Given the description of an element on the screen output the (x, y) to click on. 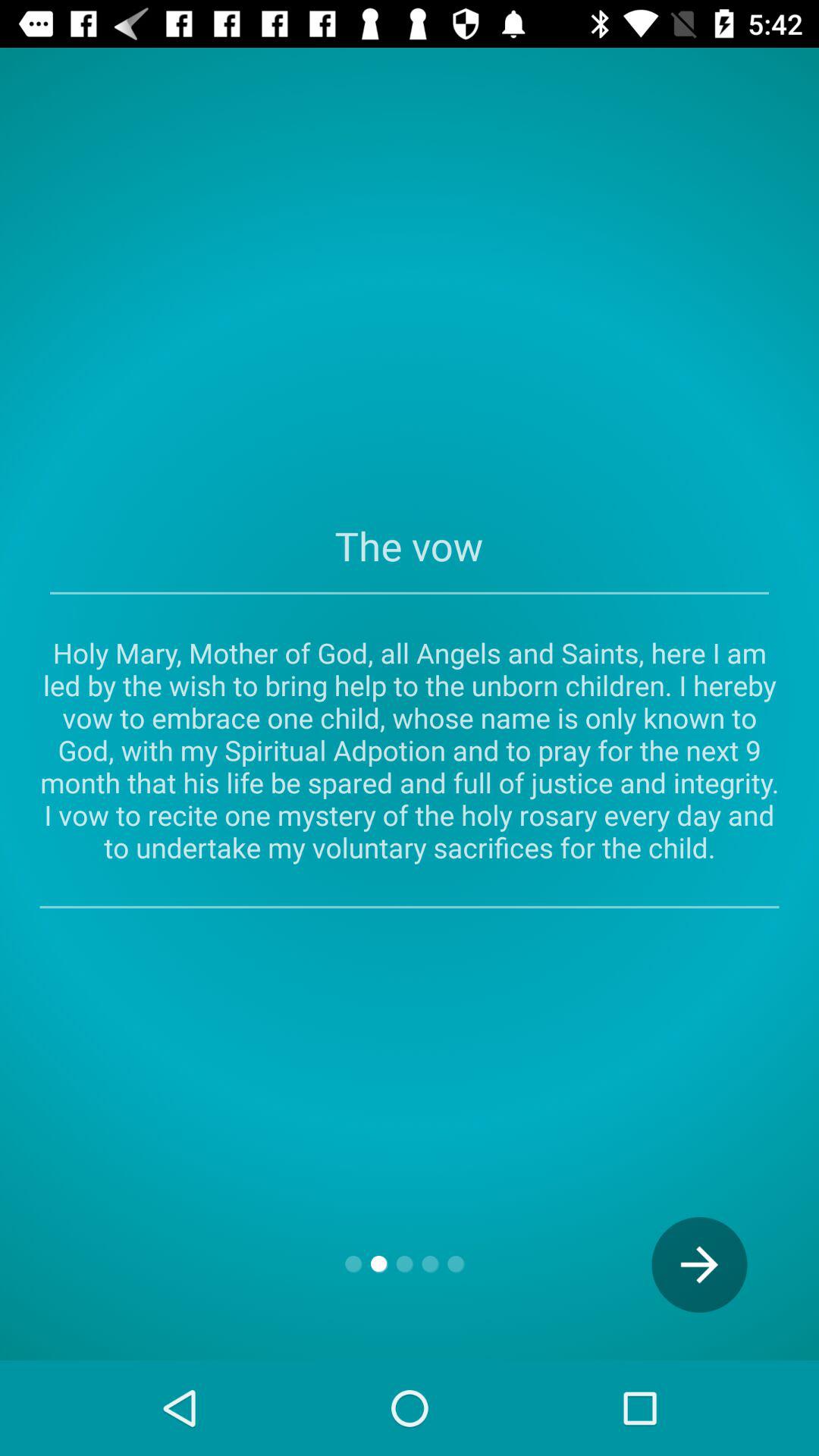
move to next page (699, 1264)
